Given the description of an element on the screen output the (x, y) to click on. 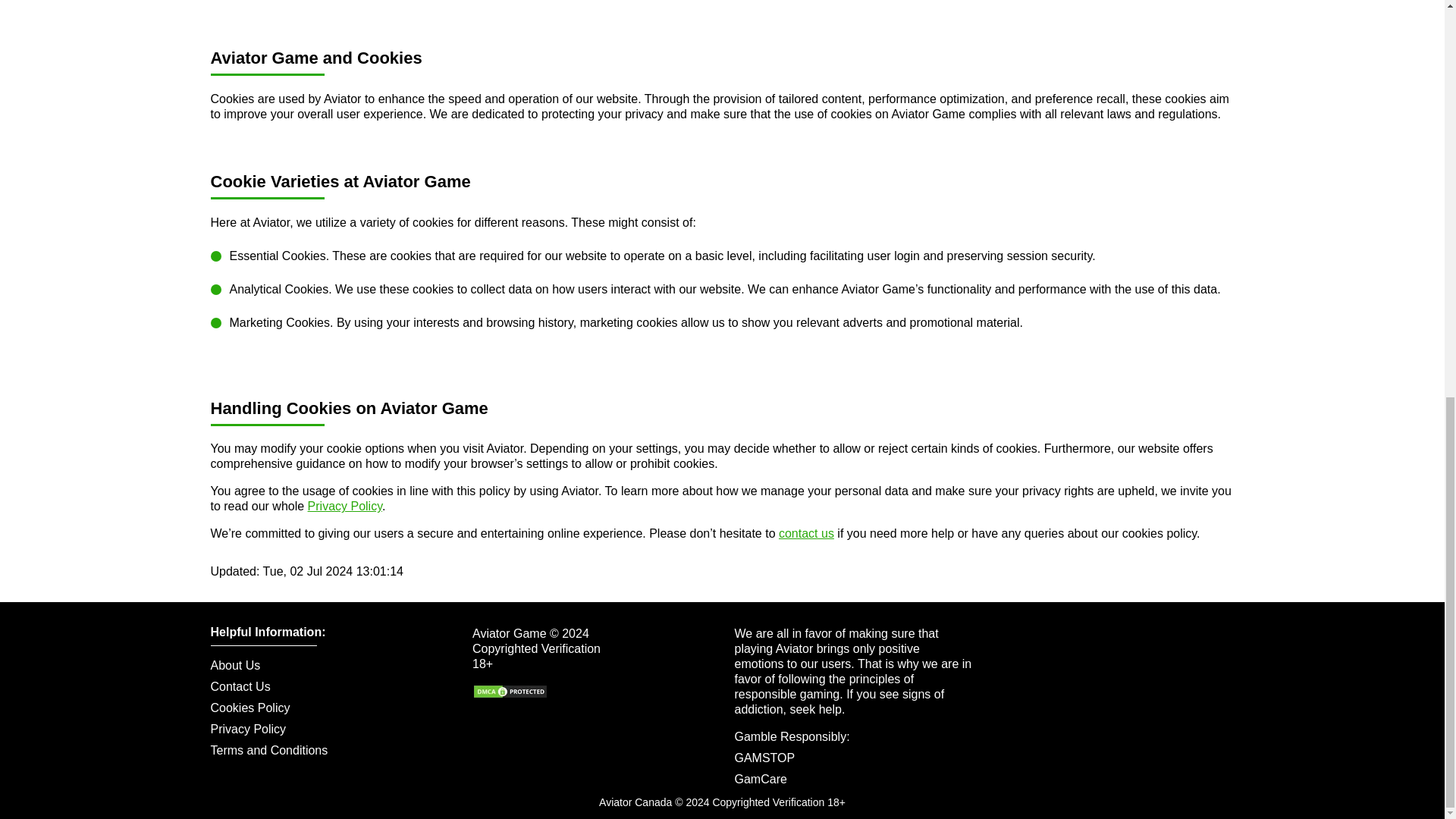
Cookies Policy (329, 708)
GAMSTOP (763, 757)
Contact Us (329, 686)
contact us (806, 533)
DMCA.com Protection Status (509, 694)
Privacy Policy (329, 729)
Privacy Policy (344, 505)
Terms and Conditions (329, 750)
About Us (329, 665)
GamCare (759, 779)
